Given the description of an element on the screen output the (x, y) to click on. 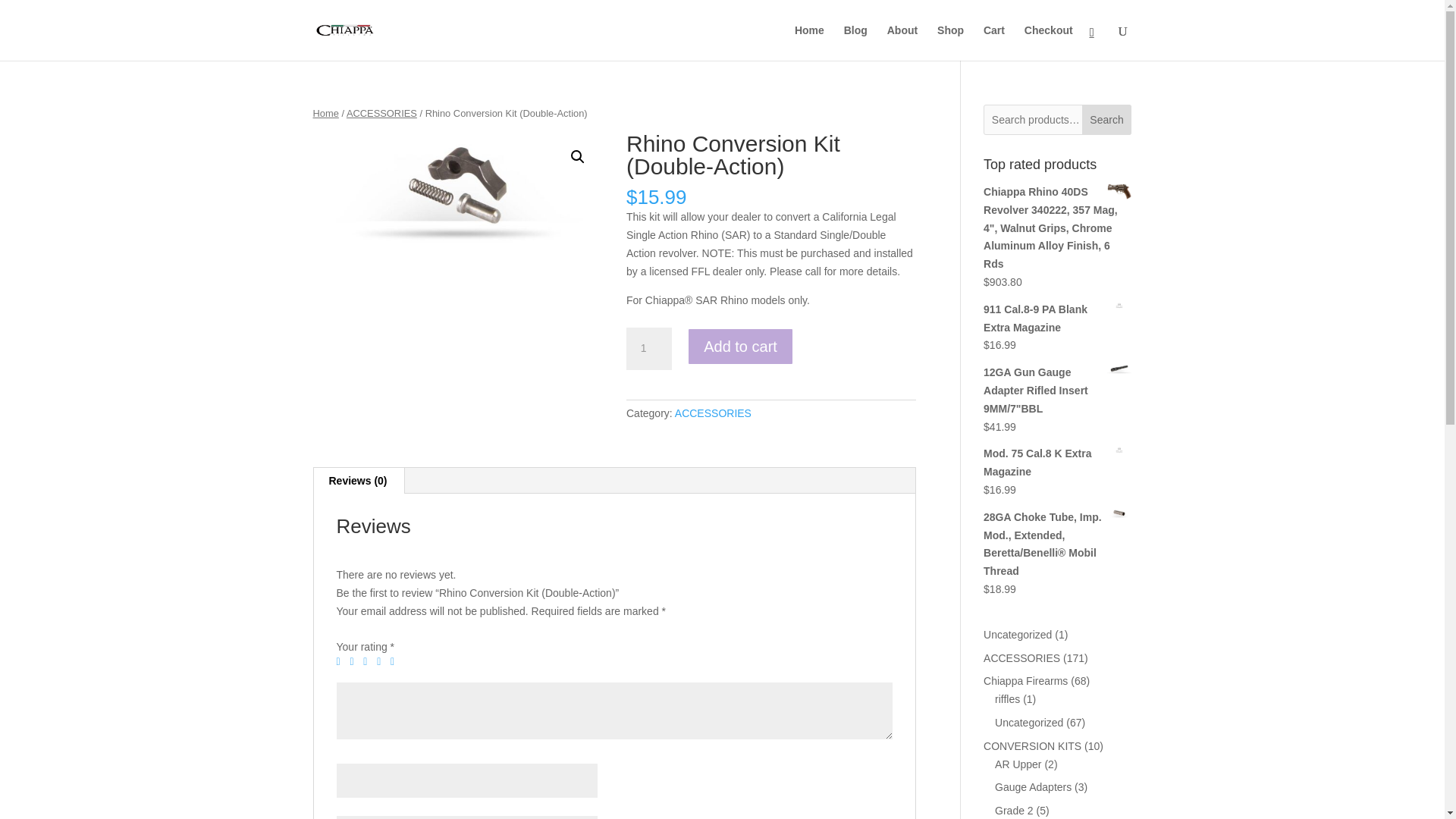
2 (354, 661)
Checkout (1049, 42)
4 (382, 661)
ACCESSORIES (713, 413)
Uncategorized (1017, 634)
Add to cart (740, 346)
Home (325, 112)
911 Cal.8-9 PA Blank Extra Magazine (1057, 319)
3 (368, 661)
Search (1106, 119)
Mod. 75 Cal.8 K Extra Magazine (1057, 463)
ACCESSORIES (381, 112)
1 (648, 348)
5 (395, 661)
